Given the description of an element on the screen output the (x, y) to click on. 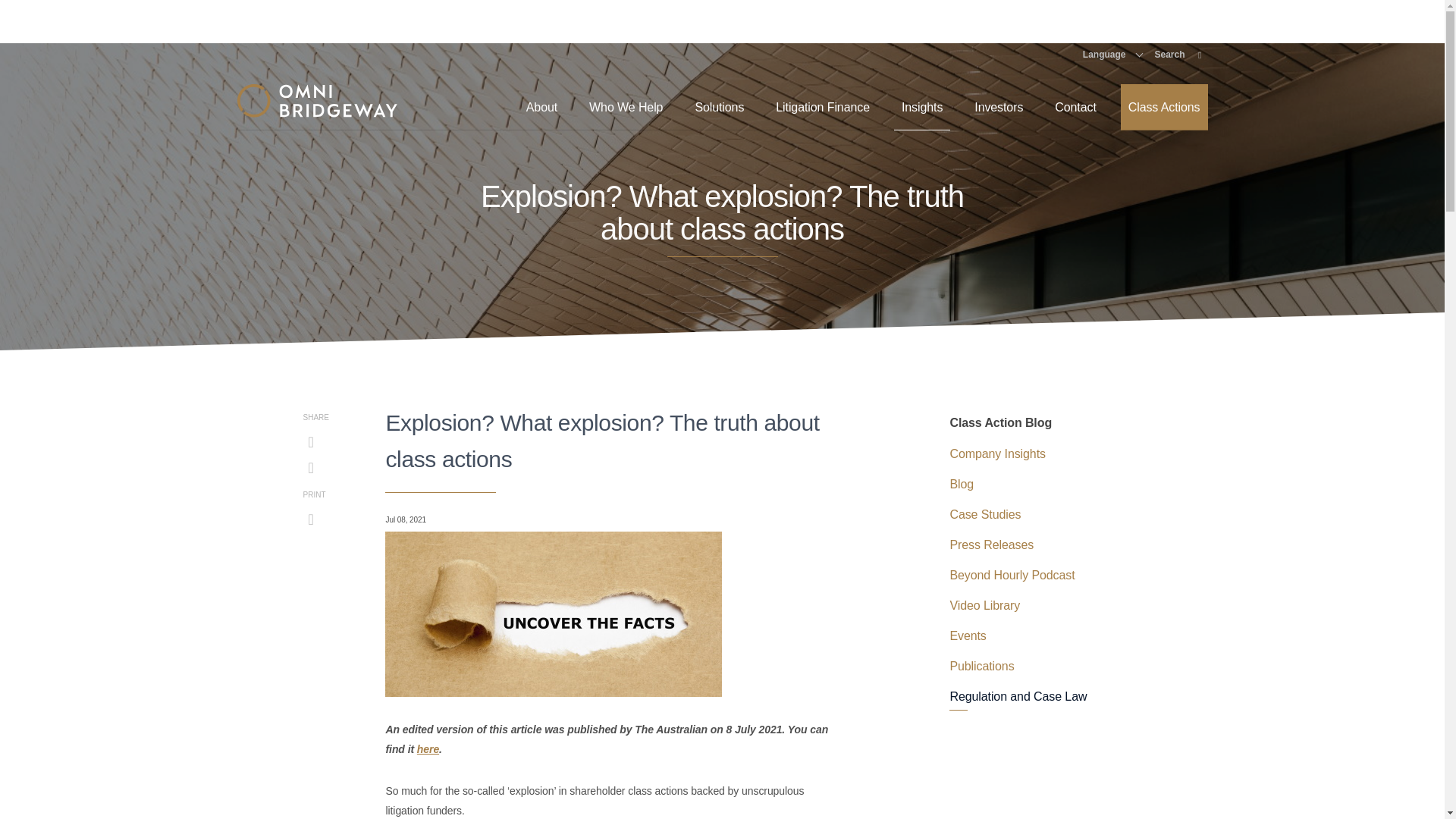
Litigation Finance (822, 107)
Who We Help (624, 107)
Insights (921, 107)
Solutions (719, 107)
Search (1177, 54)
About (541, 107)
Language (1112, 54)
